Given the description of an element on the screen output the (x, y) to click on. 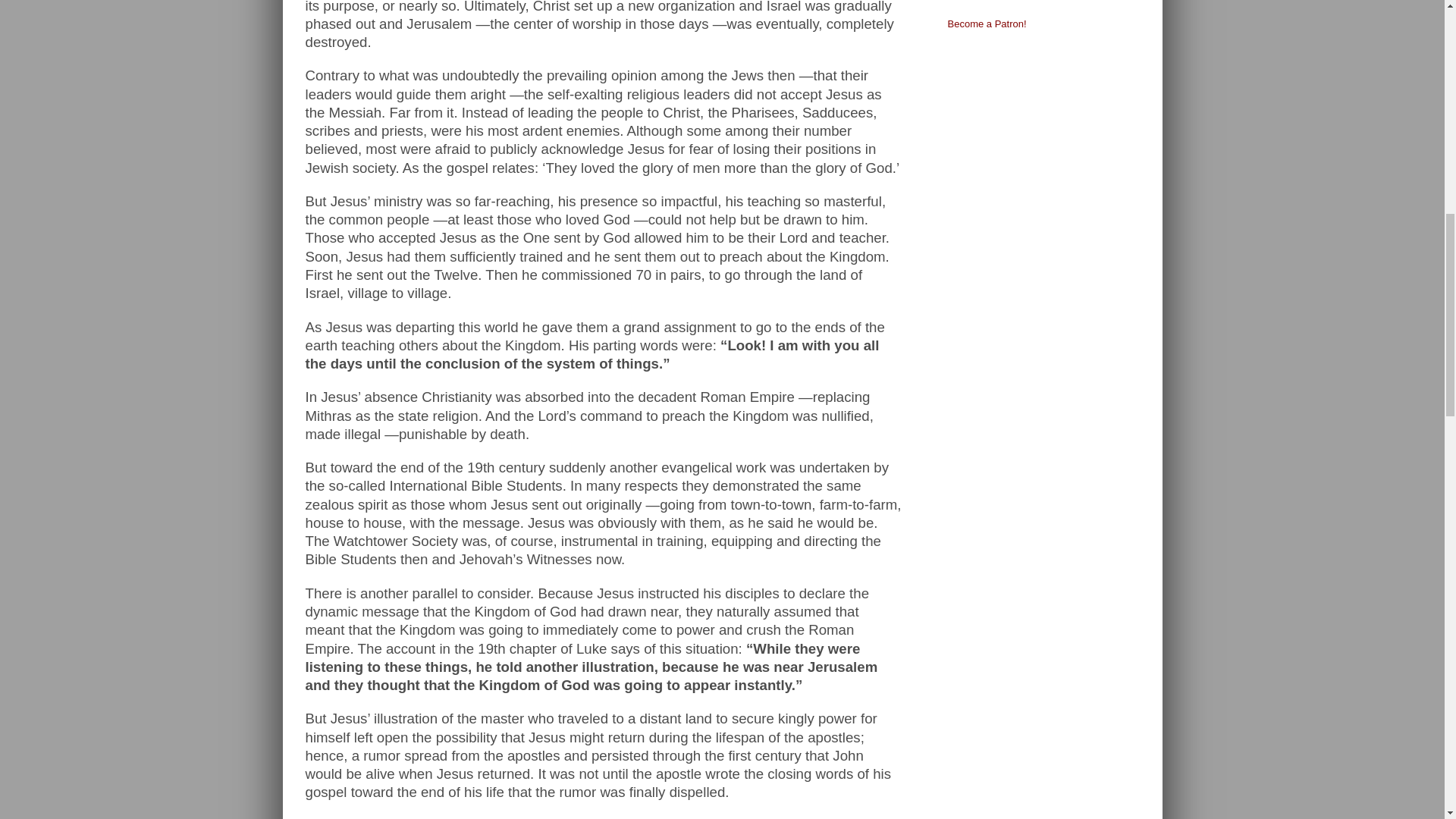
Become a Patron! (986, 23)
